Given the description of an element on the screen output the (x, y) to click on. 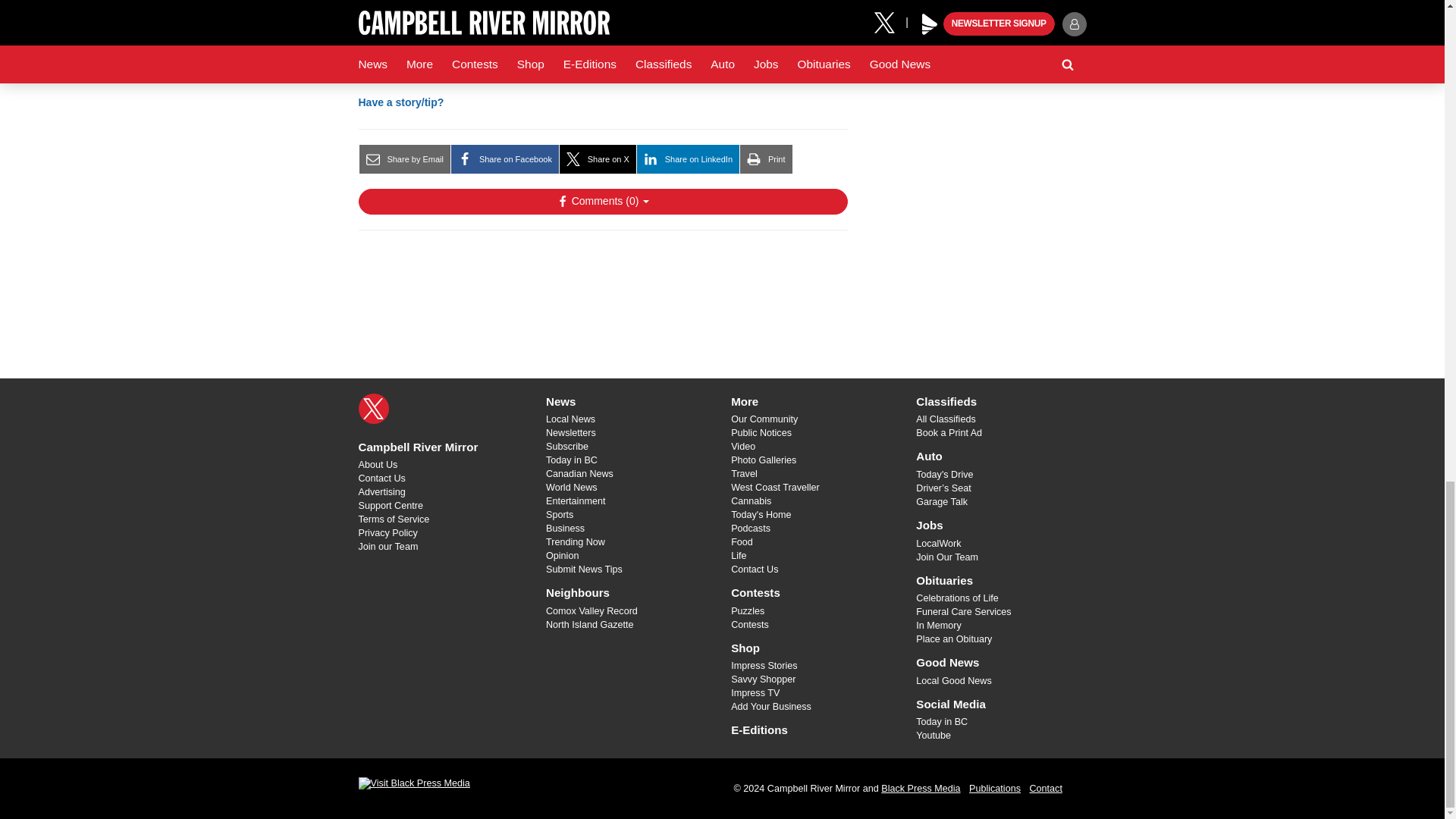
X (373, 408)
Show Comments (602, 201)
